Given the description of an element on the screen output the (x, y) to click on. 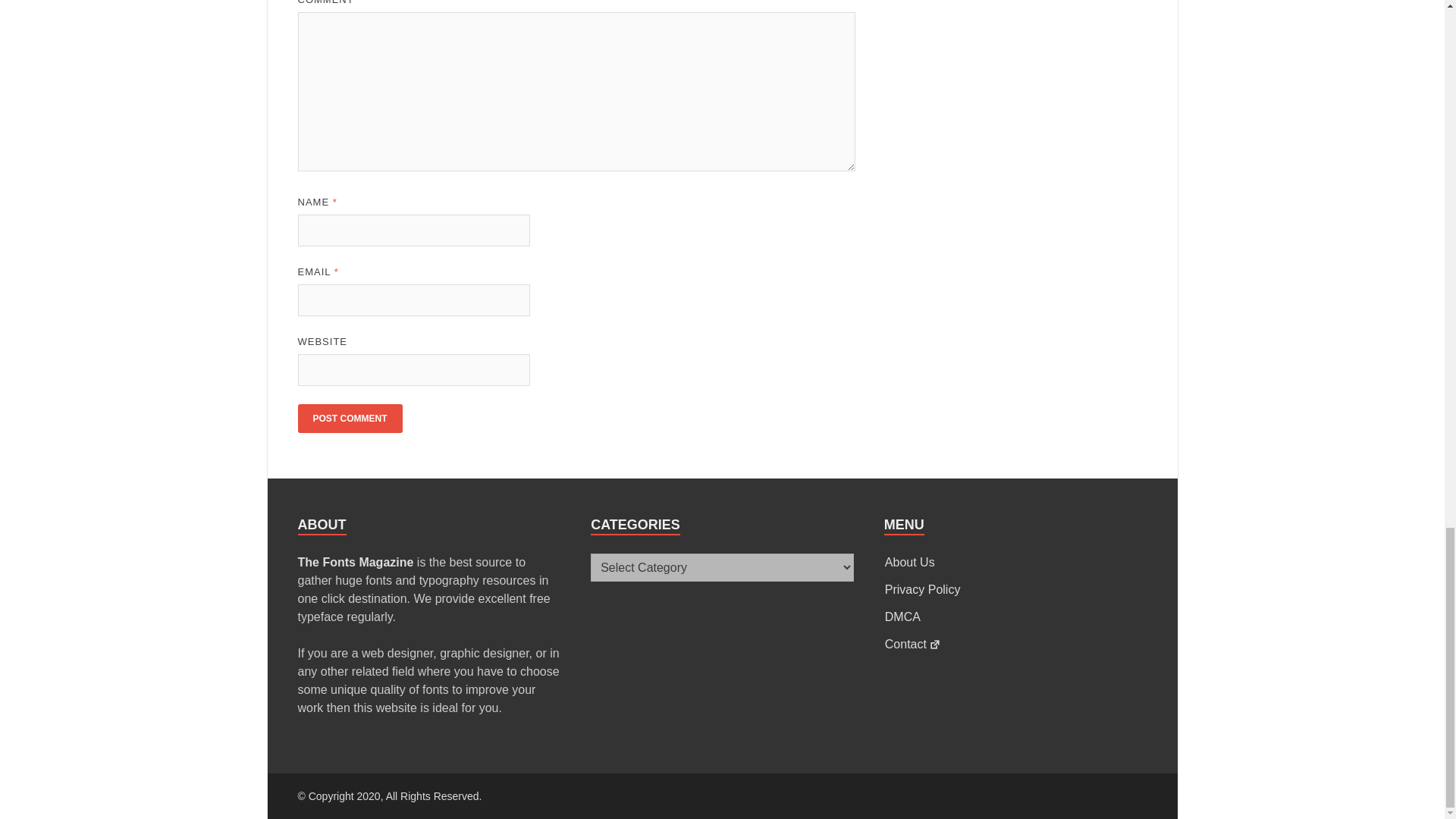
Post Comment (349, 418)
Post Comment (349, 418)
